Given the description of an element on the screen output the (x, y) to click on. 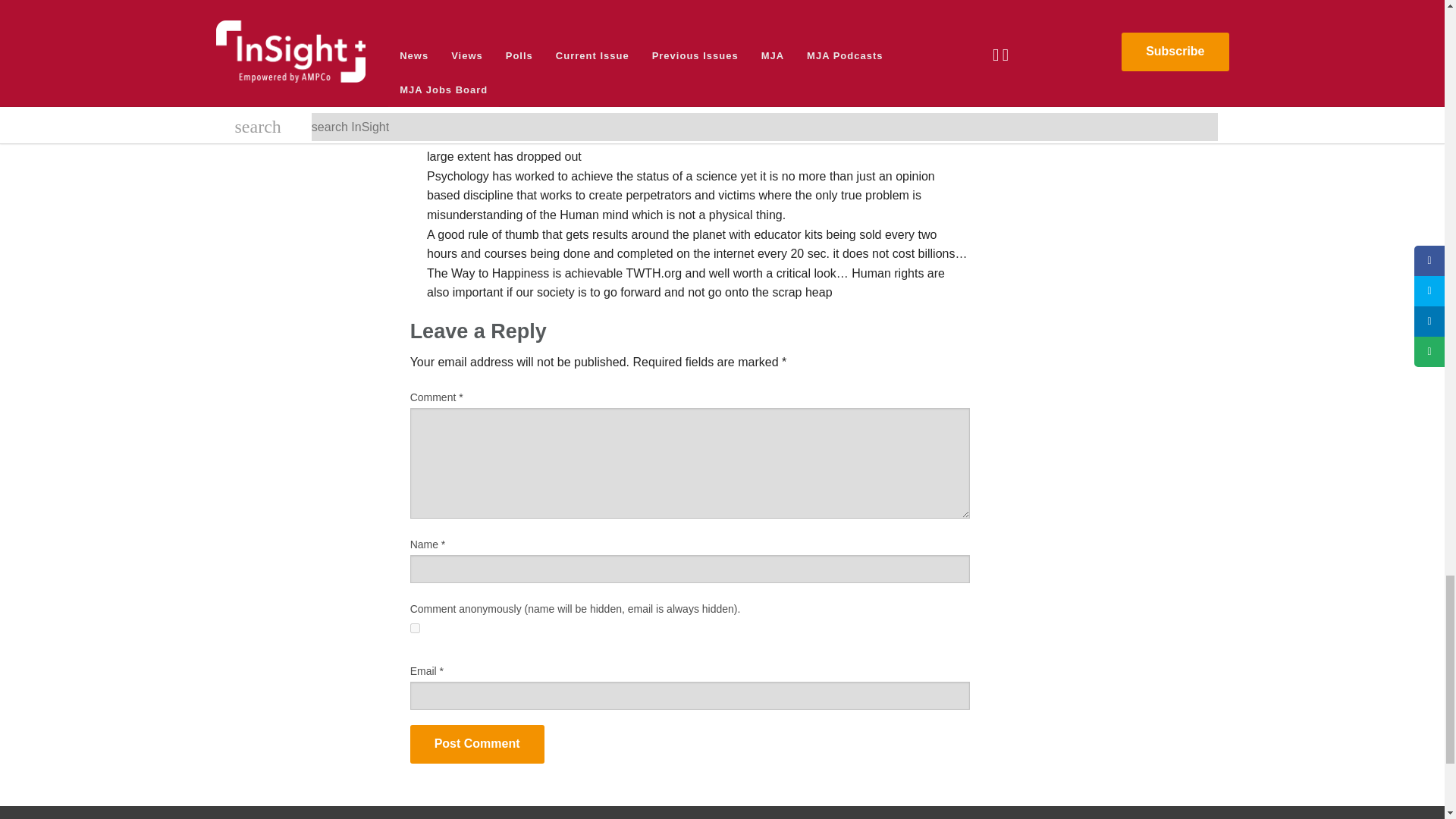
on (415, 628)
Post Comment (477, 743)
